Given the description of an element on the screen output the (x, y) to click on. 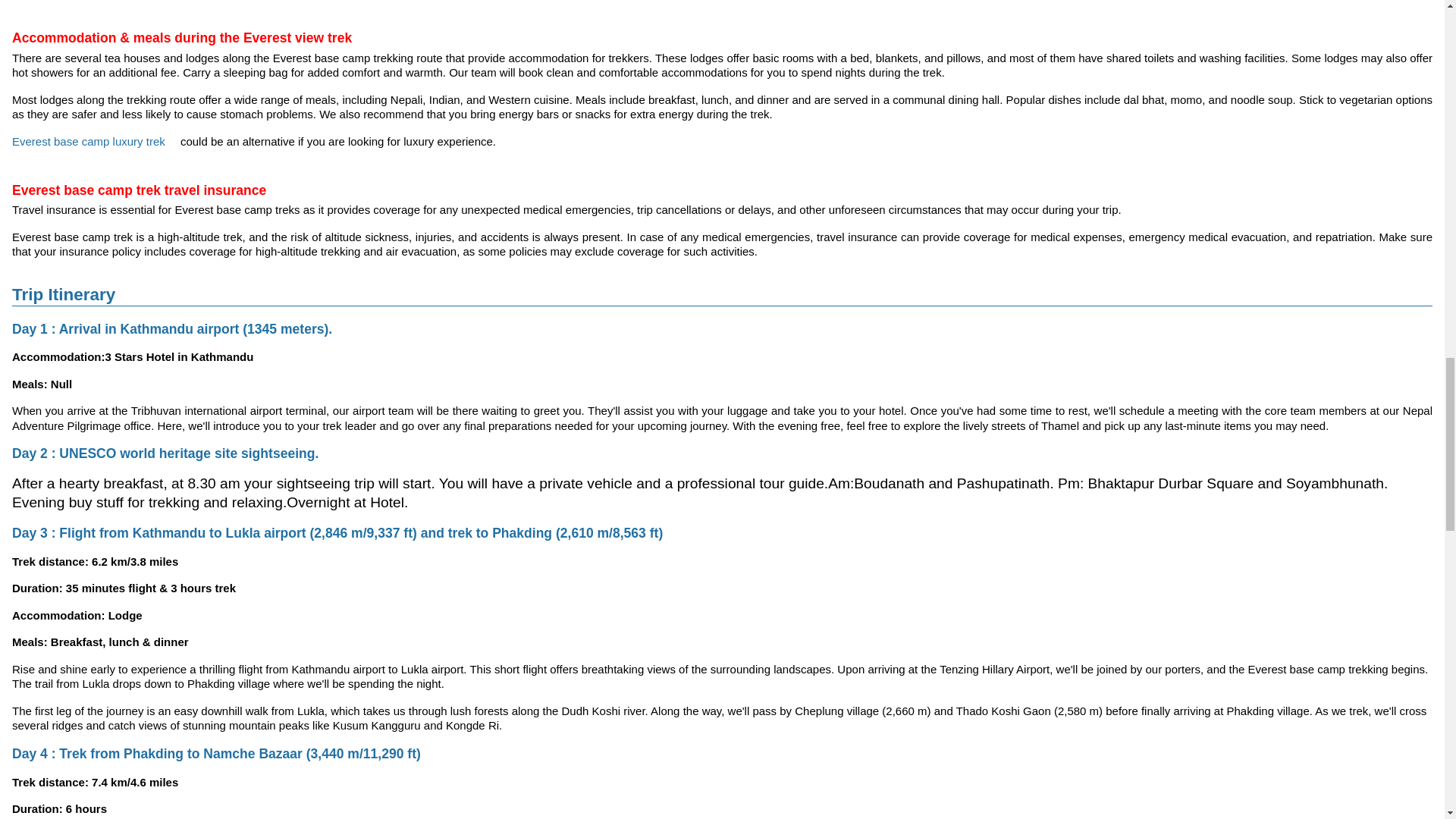
Everest base camp luxury trek  (89, 141)
